Given the description of an element on the screen output the (x, y) to click on. 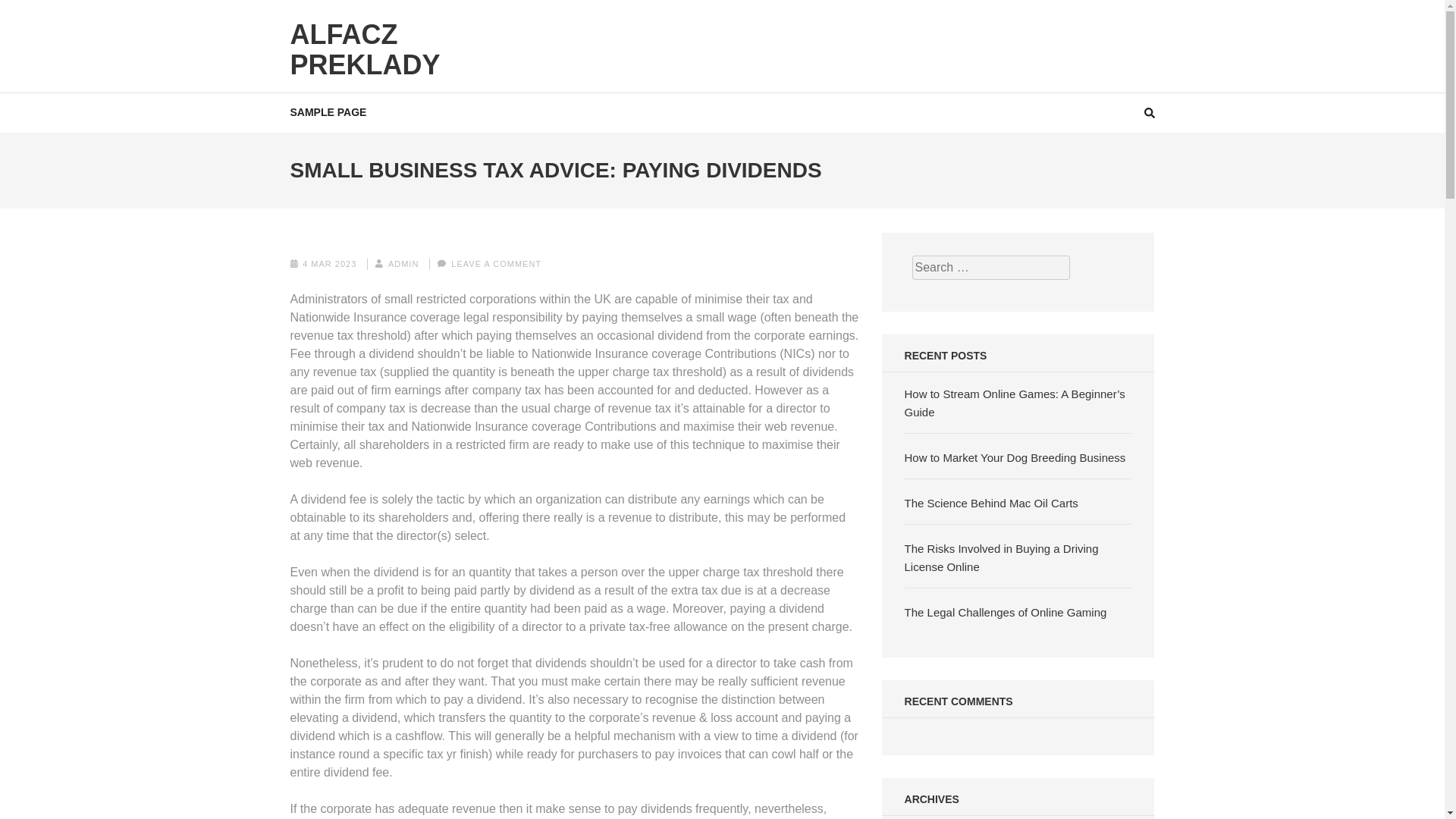
The Risks Involved in Buying a Driving License Online (1001, 557)
ALFACZ PREKLADY (364, 49)
The Science Behind Mac Oil Carts (991, 502)
4 MAR 2023 (329, 263)
The Legal Challenges of Online Gaming (1005, 612)
LEAVE A COMMENT (496, 263)
ADMIN (403, 263)
How to Market Your Dog Breeding Business (1014, 457)
Search (1428, 19)
SAMPLE PAGE (327, 112)
